Given the description of an element on the screen output the (x, y) to click on. 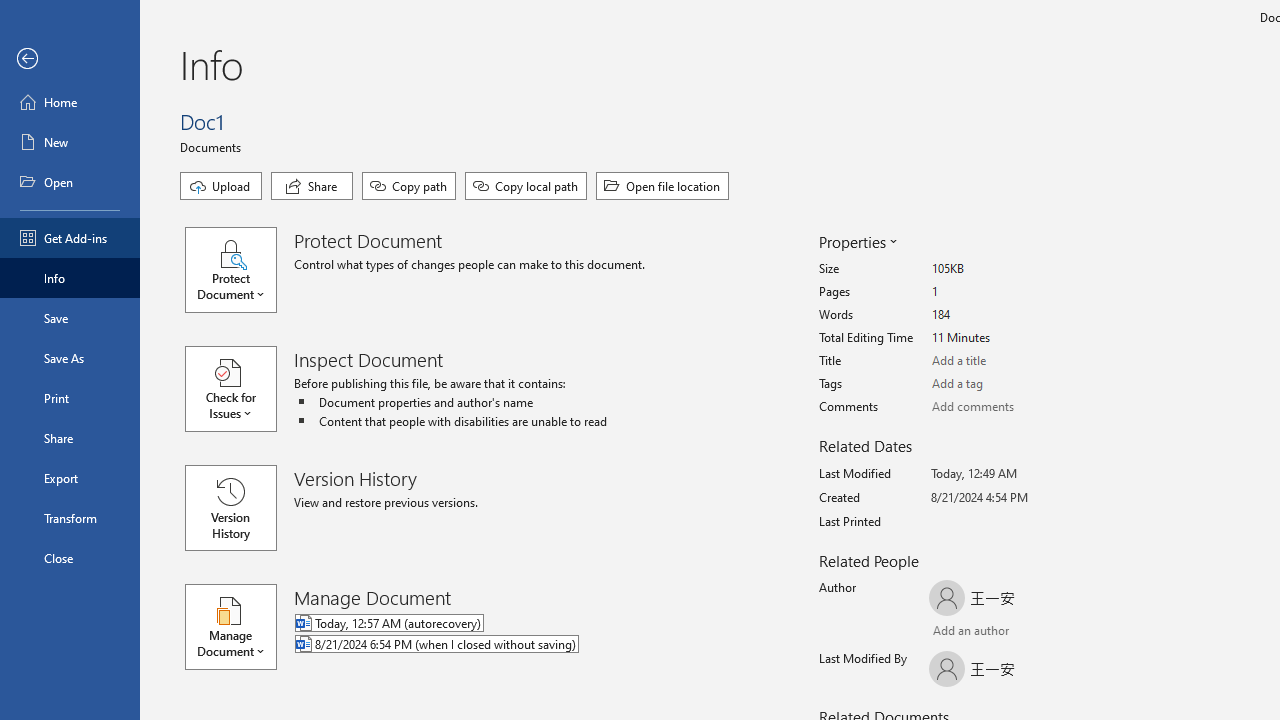
Title (1006, 361)
Tags (1006, 384)
Properties (856, 241)
 Today, 12:57 AM (autorecovery) (518, 624)
Check for Issues (239, 389)
Copy path (408, 186)
Back (69, 59)
Size (1006, 269)
